Given the description of an element on the screen output the (x, y) to click on. 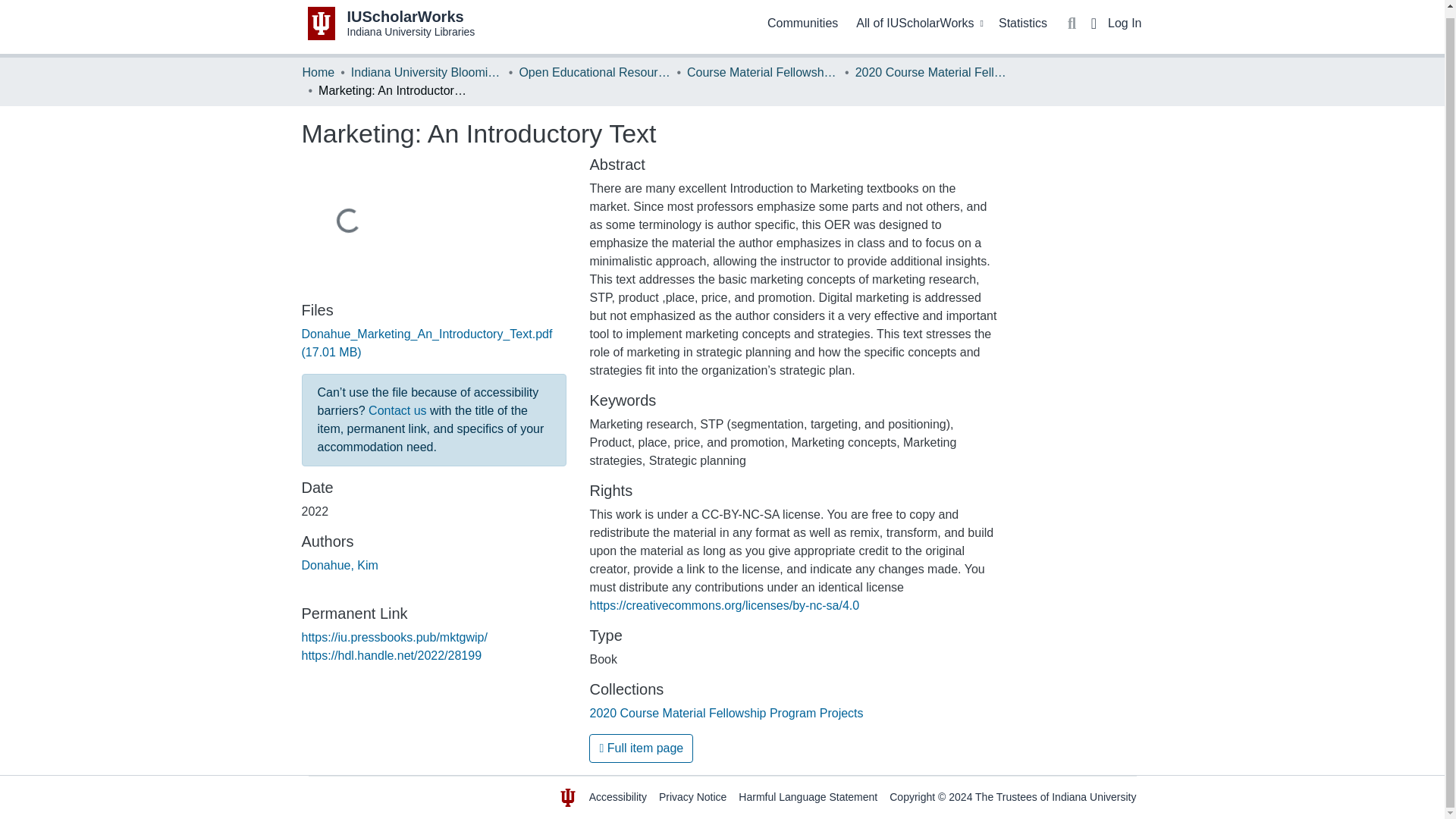
Full item page (641, 747)
Course Material Fellowship Program (762, 72)
Home (391, 23)
Indiana University (317, 72)
2020 Course Material Fellowship Program Projects (1093, 797)
Donahue, Kim (726, 712)
Privacy Notice (339, 564)
Accessibility (692, 797)
Copyright (617, 797)
